Given the description of an element on the screen output the (x, y) to click on. 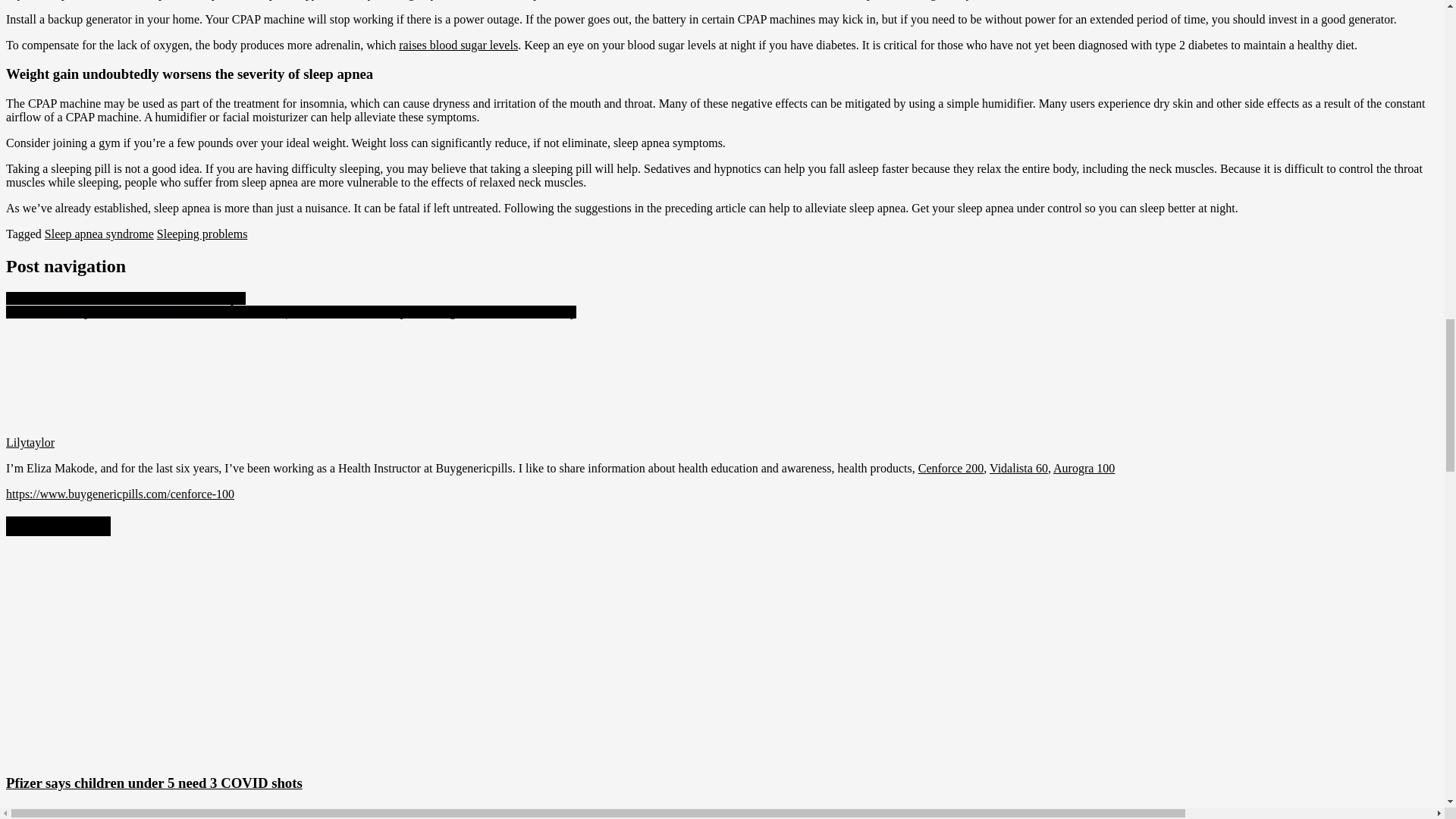
raises blood sugar levels (458, 43)
Sleeping problems (202, 233)
This time Mamata was not allowed to visit Nepal (125, 297)
Aurogra 100 (1083, 468)
Sleep apnea syndrome (99, 233)
Vidalista 60 (1019, 468)
September 18, 2023May 23, 2022 (88, 812)
Jmes Brownman (215, 812)
Pfizer says children under 5 need 3 COVID shots (153, 782)
Cenforce 200 (951, 468)
